Given the description of an element on the screen output the (x, y) to click on. 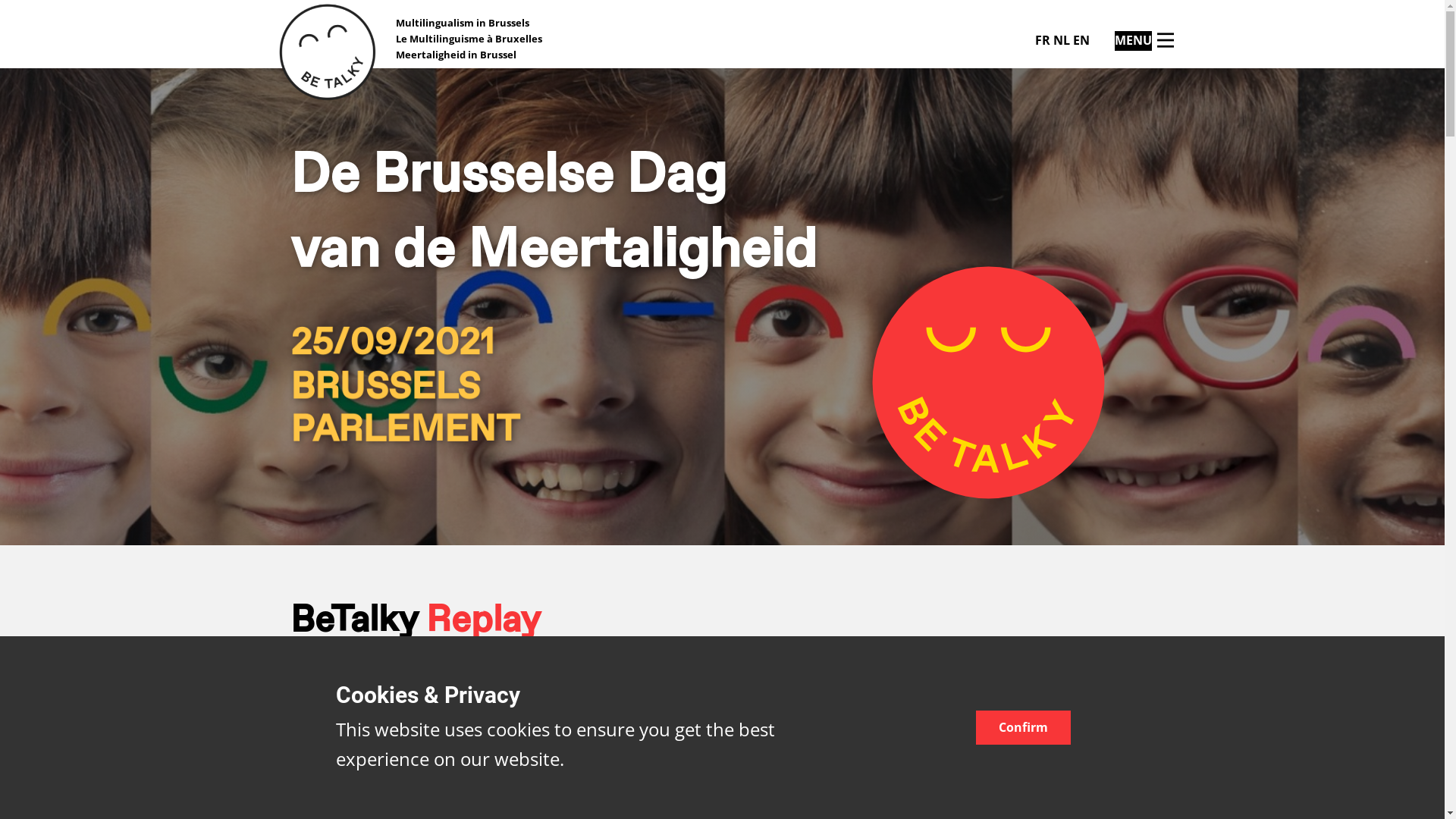
REPLAY Element type: text (1083, 721)
FR Element type: text (1041, 39)
Accueil Element type: hover (326, 52)
EN Element type: text (1080, 39)
Confirm Element type: text (1022, 727)
NL Element type: text (1060, 39)
REPLAY Element type: text (1083, 770)
